Given the description of an element on the screen output the (x, y) to click on. 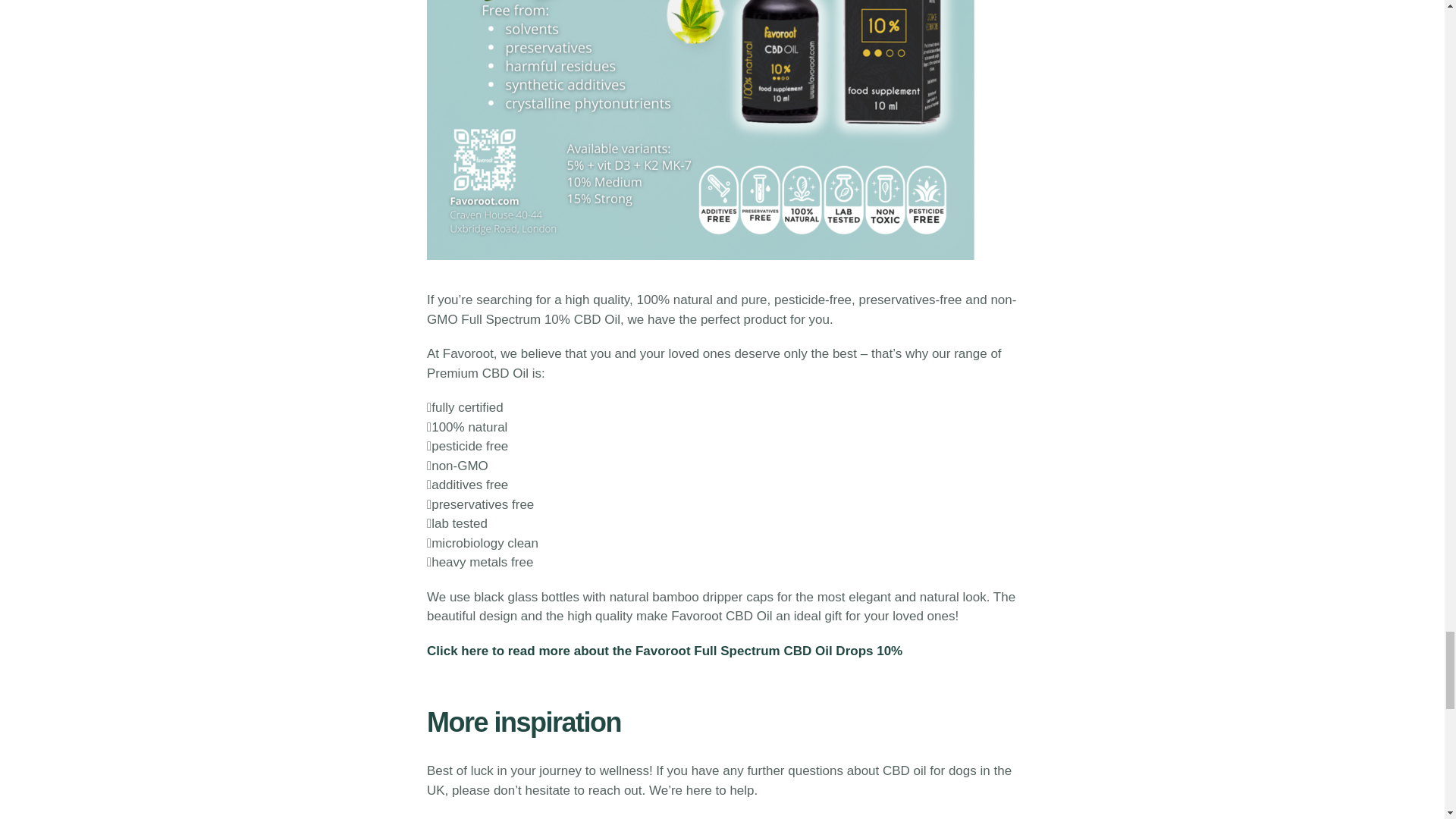
instagram (570, 818)
facebook (658, 818)
